Given the description of an element on the screen output the (x, y) to click on. 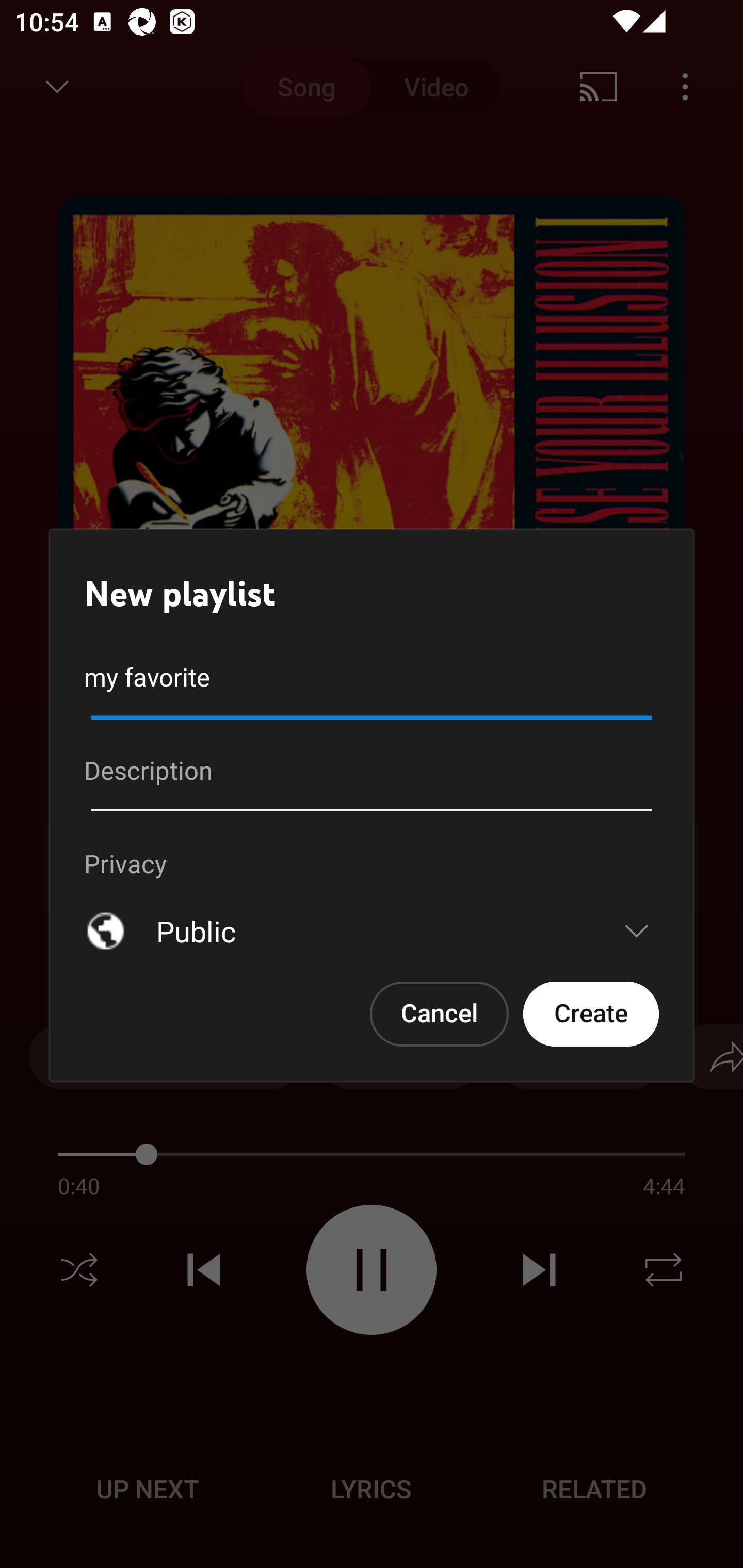
my favorite (371, 684)
Description (371, 777)
Cancel (439, 1013)
Create (591, 1013)
